Given the description of an element on the screen output the (x, y) to click on. 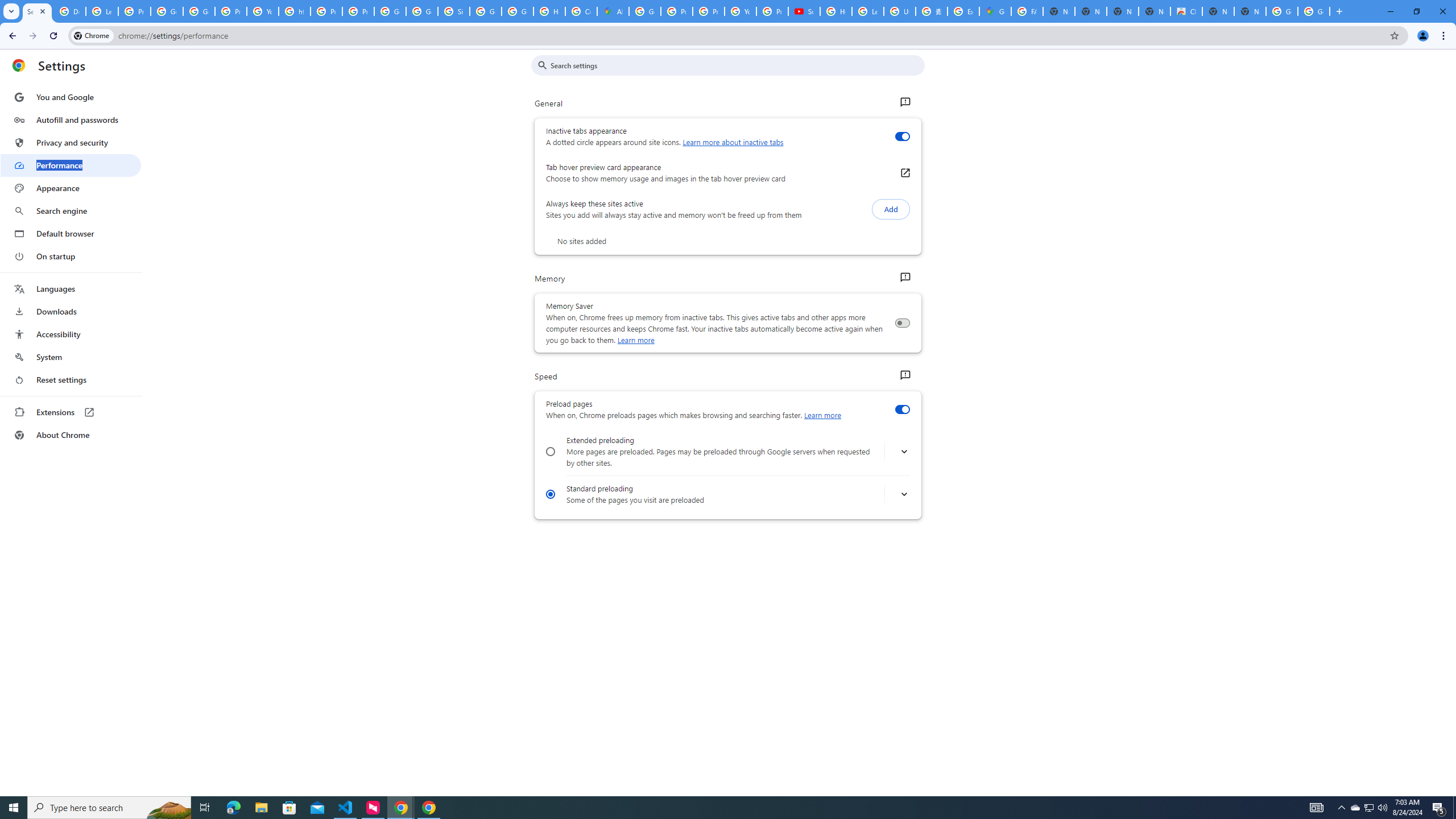
Google Account Help (198, 11)
Google Account Help (166, 11)
You and Google (70, 96)
Sign in - Google Accounts (453, 11)
AutomationID: menu (71, 265)
Privacy Help Center - Policies Help (708, 11)
Subscriptions - YouTube (804, 11)
YouTube (740, 11)
Learn how to find your photos - Google Photos Help (101, 11)
Search settings (735, 65)
Performance (70, 164)
